Given the description of an element on the screen output the (x, y) to click on. 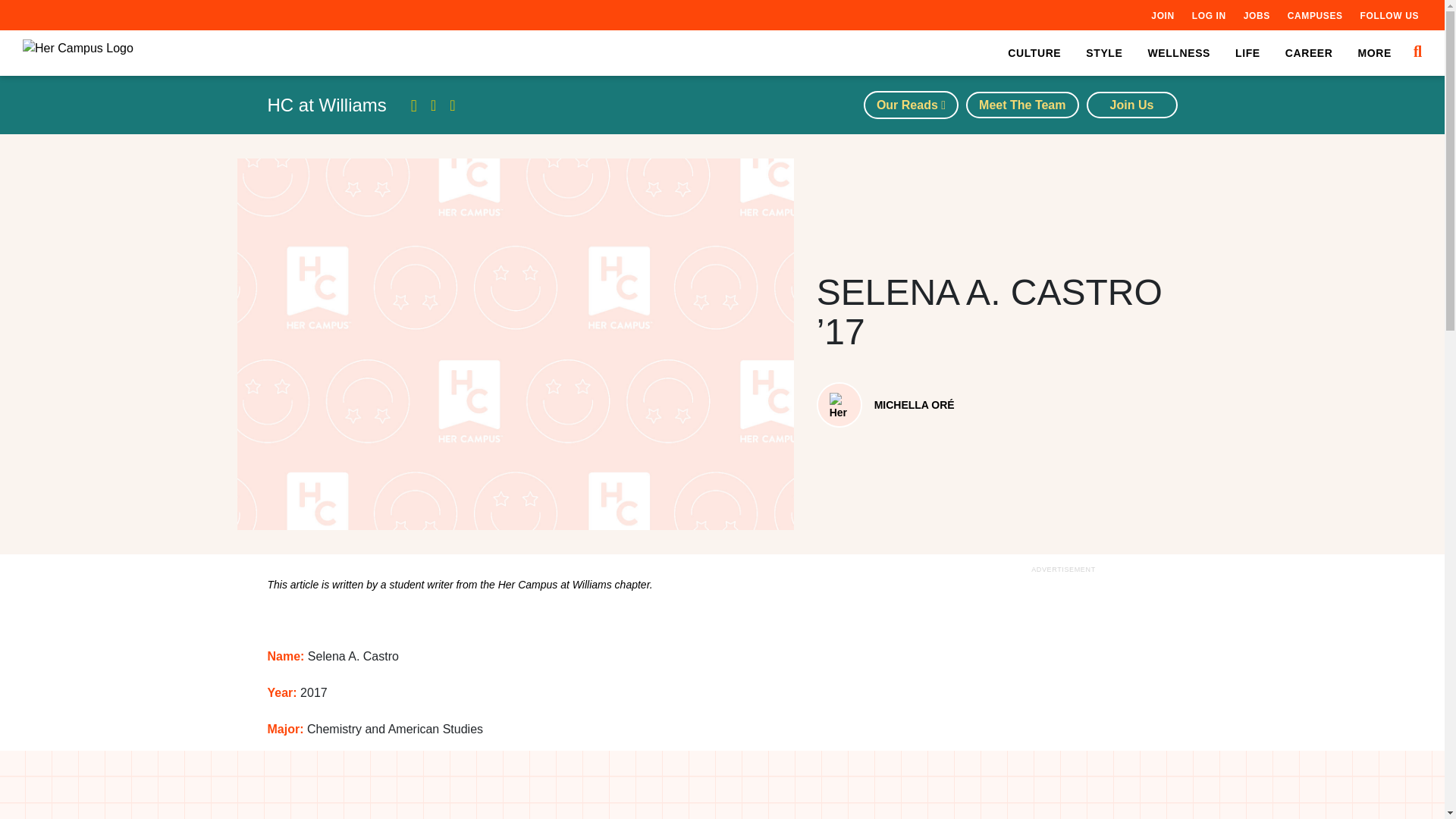
CAMPUSES (1314, 15)
LOG IN (1208, 15)
JOBS (1256, 15)
JOIN (1162, 15)
